Given the description of an element on the screen output the (x, y) to click on. 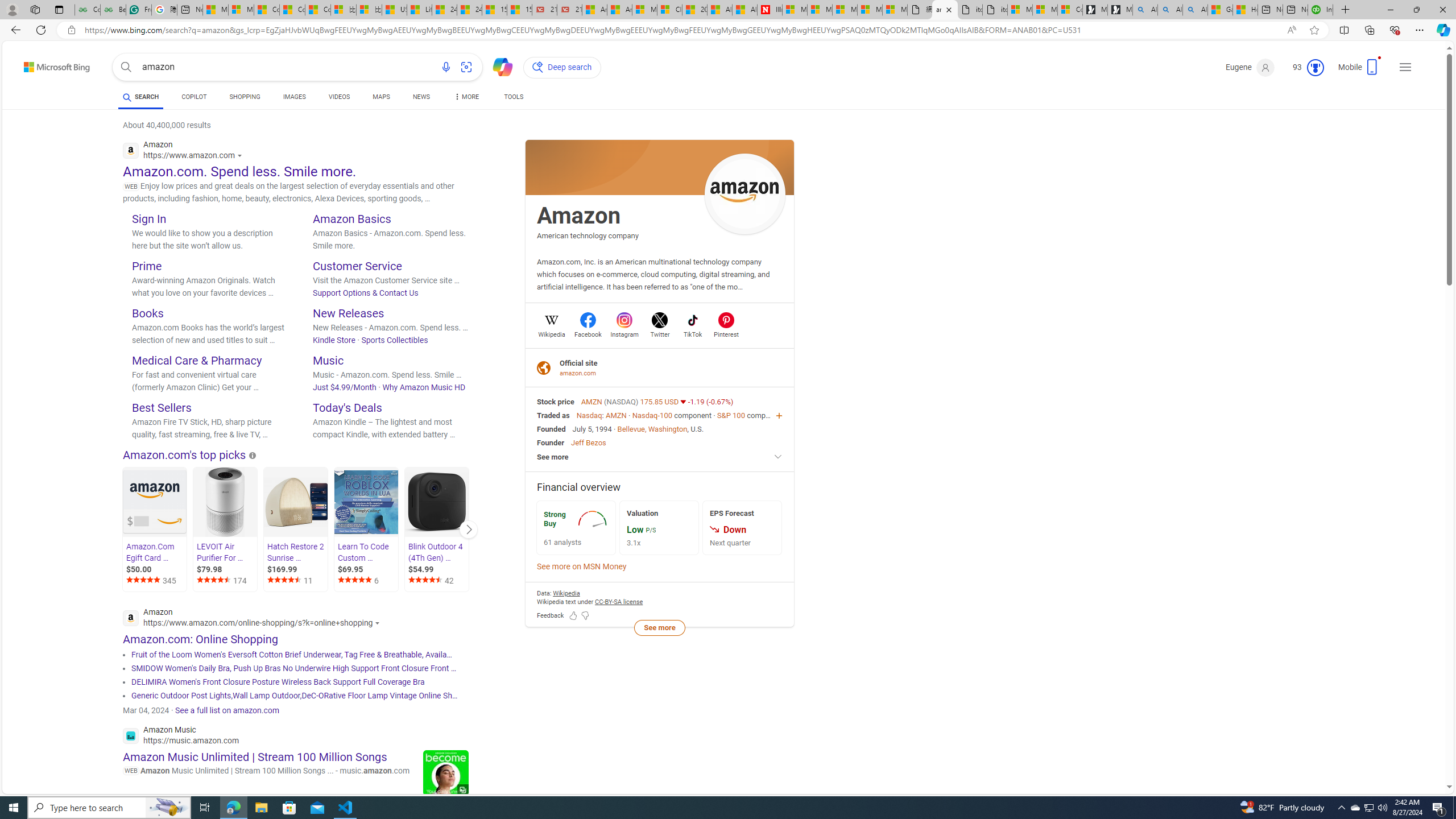
Click to scroll right (468, 529)
IMAGES (294, 96)
Founder (550, 442)
See a full list on amazon.com (226, 710)
Support Options & Contact Us (366, 292)
Cloud Computing Services | Microsoft Azure (669, 9)
Amazon.com. Spend less. Smile more. (239, 170)
Alabama high school quarterback dies - Search Videos (1194, 9)
Skip to content (36, 63)
